Given the description of an element on the screen output the (x, y) to click on. 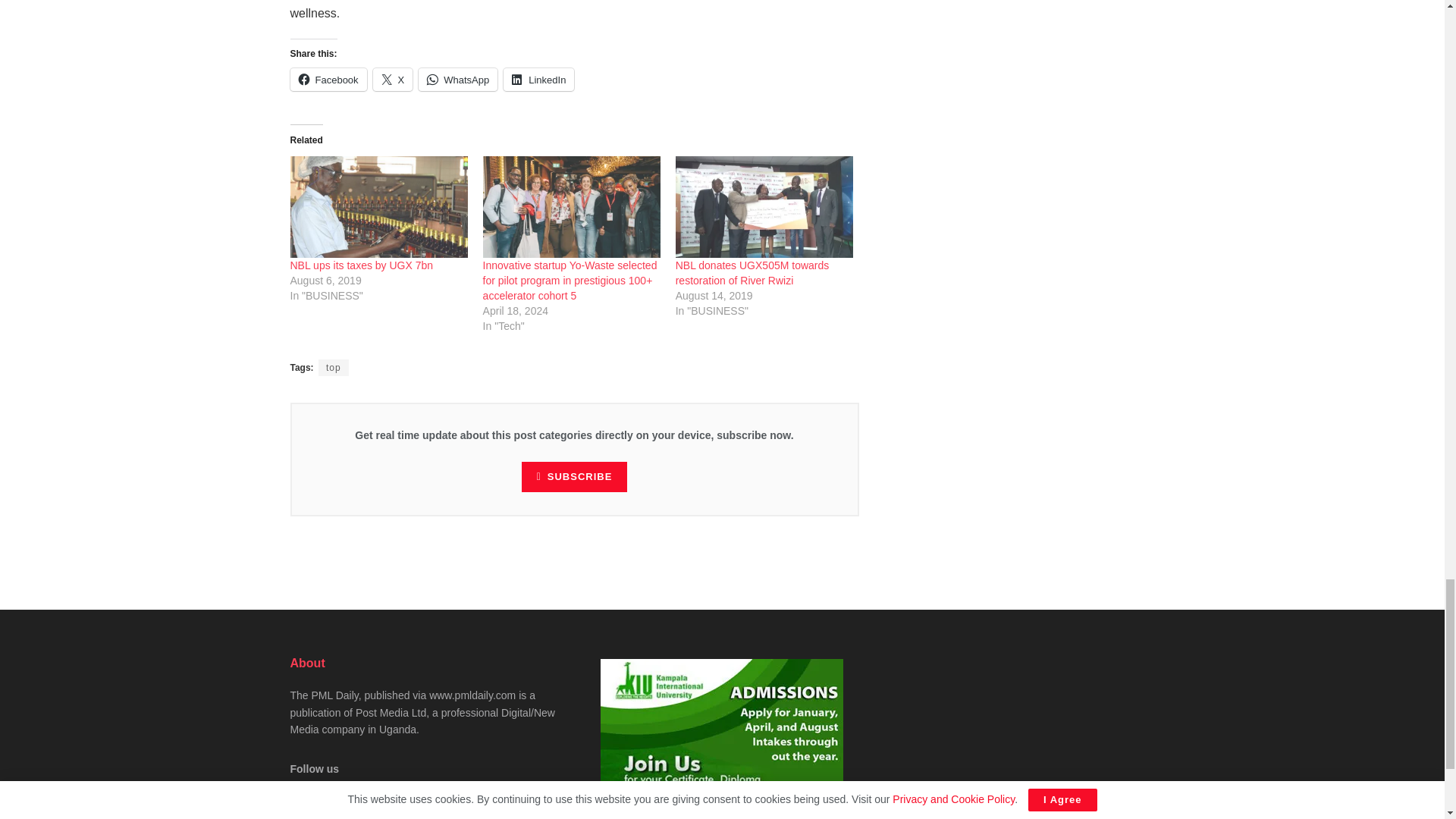
Click to share on LinkedIn (538, 78)
Click to share on Facebook (327, 78)
Click to share on WhatsApp (458, 78)
NBL donates UGX505M towards restoration of River Rwizi (752, 272)
NBL ups its taxes by UGX 7bn (378, 206)
NBL ups its taxes by UGX 7bn (360, 265)
Click to share on X (392, 78)
NBL donates UGX505M towards restoration of River Rwizi (764, 206)
